Given the description of an element on the screen output the (x, y) to click on. 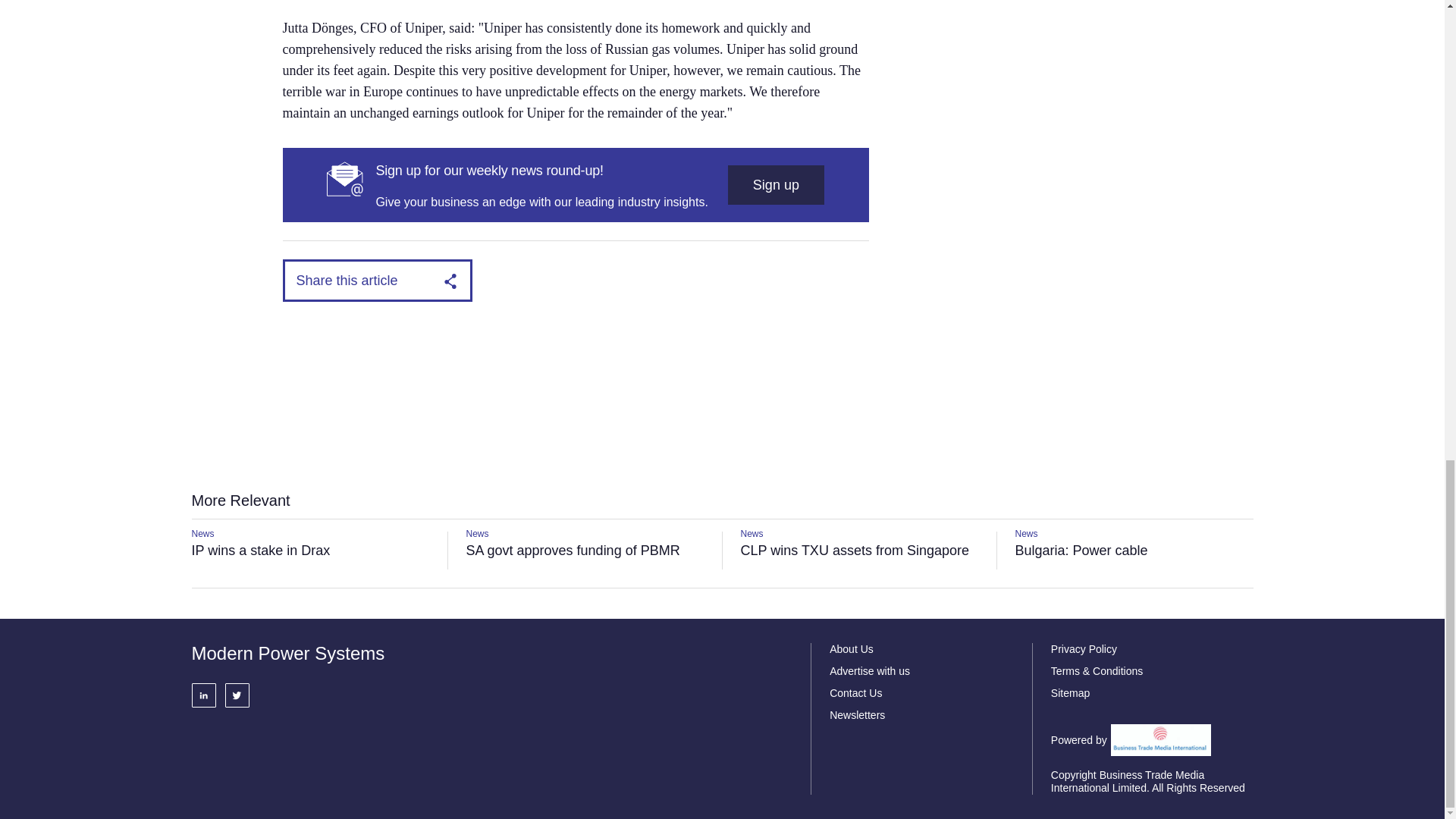
on (473, 76)
